Given the description of an element on the screen output the (x, y) to click on. 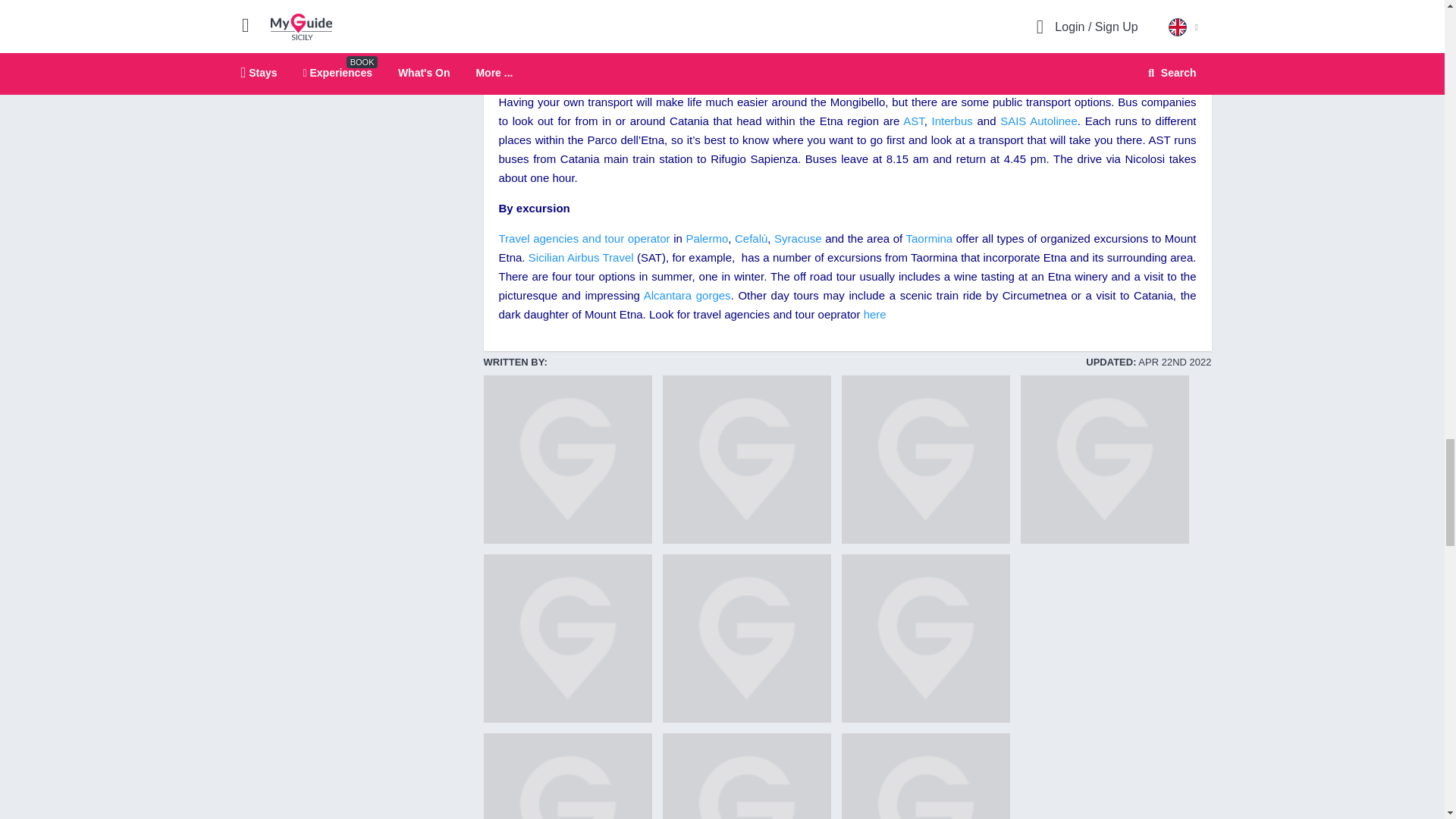
Etna flora by Luigi Strano (746, 776)
Circumetnea (746, 638)
Sivestri Craters by Luigi Strano (925, 459)
wine tasting (746, 459)
photo by Dr. Boris Behncke (925, 638)
Mount Etna by Dr. Boris Behncke (567, 776)
by Luigi Strano (567, 459)
Winter on Mt. Etna by Luigi Strano (567, 638)
